Given the description of an element on the screen output the (x, y) to click on. 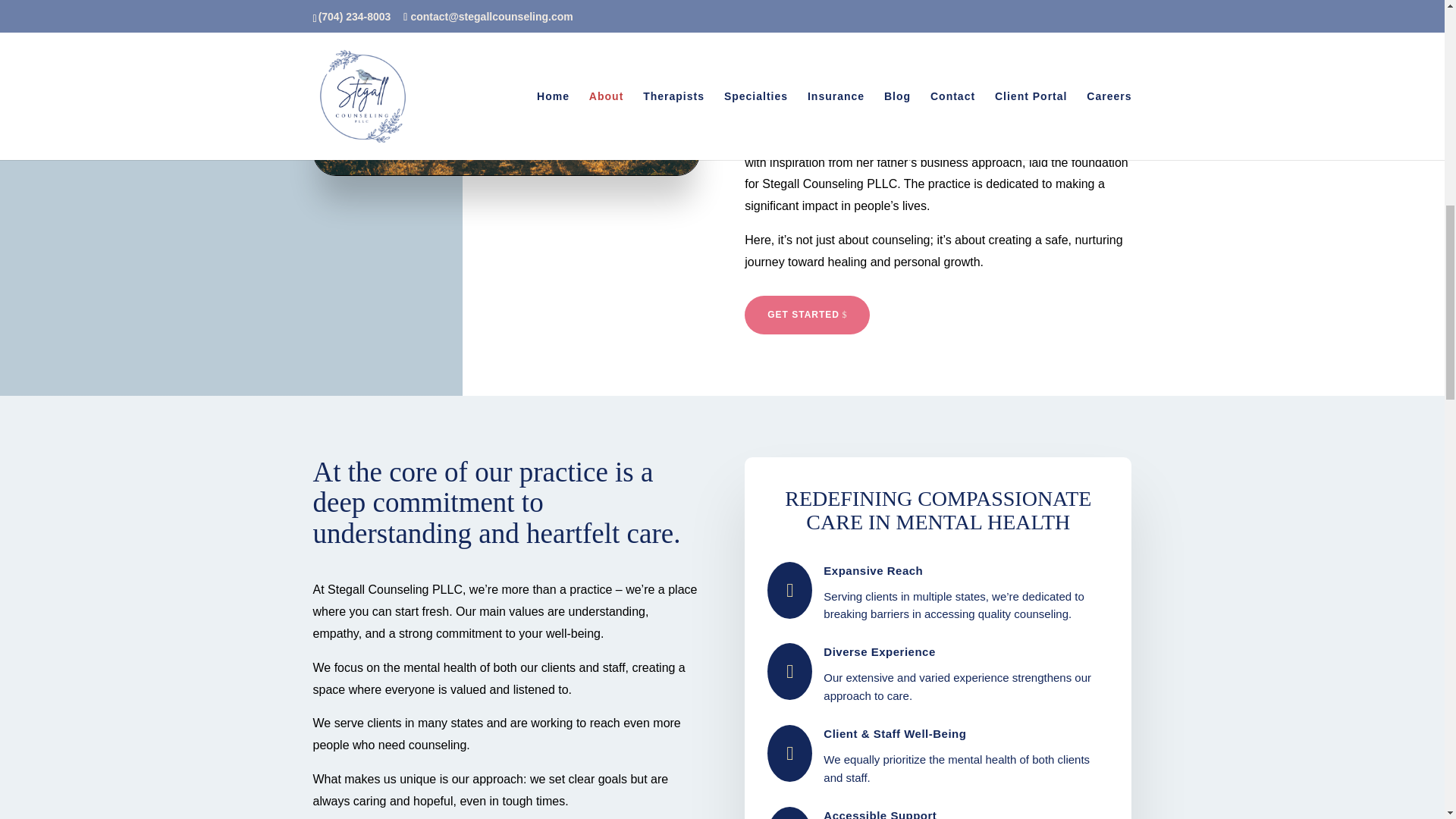
ABOUT PAGE (506, 87)
GET STARTED (806, 314)
1 (330, 2)
